Given the description of an element on the screen output the (x, y) to click on. 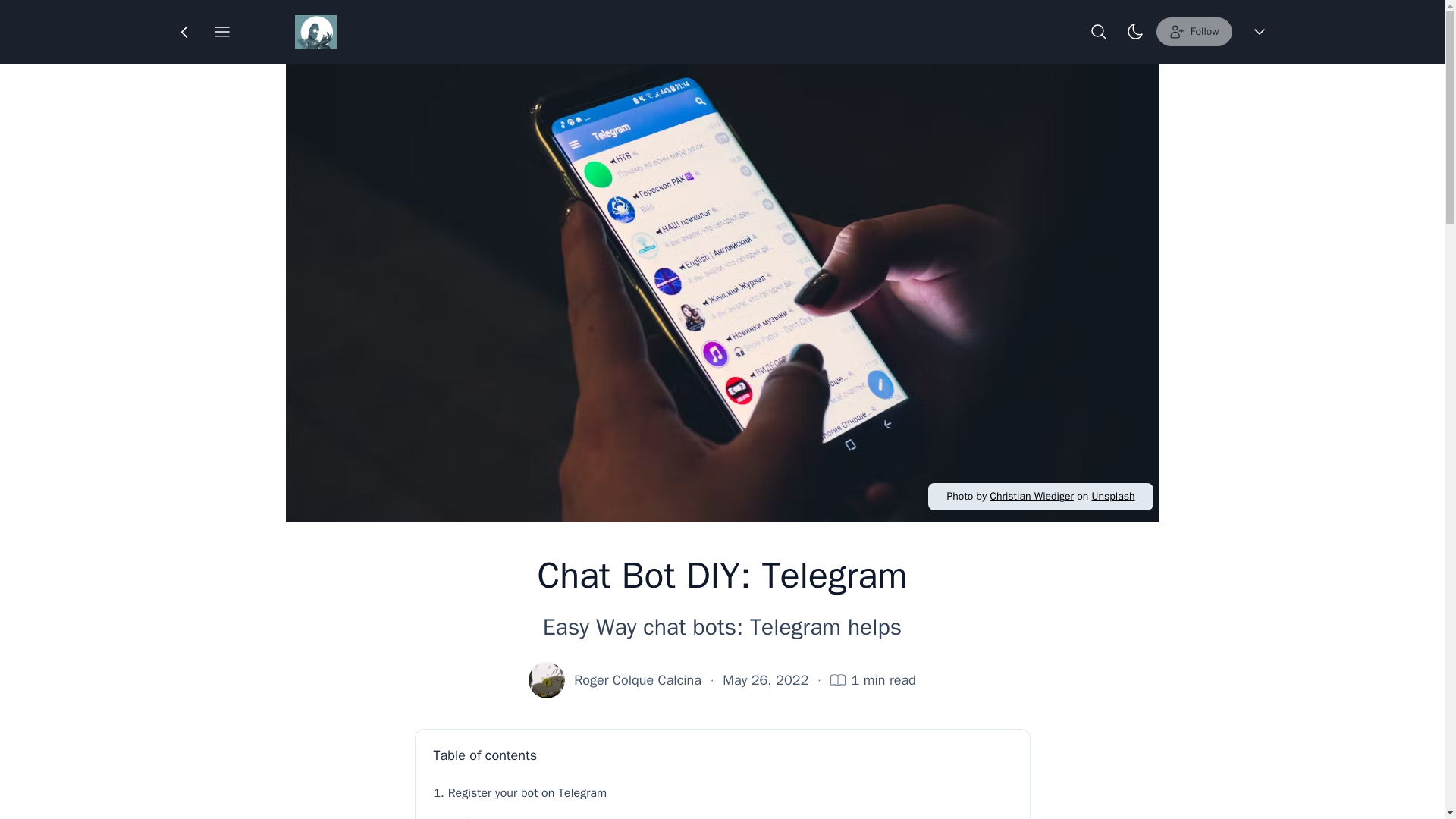
Set a Webhook (728, 813)
May 26, 2022 (765, 680)
Christian Wiediger (1032, 495)
Follow (1193, 31)
Unsplash (1112, 495)
Roger Colque Calcina (637, 680)
1. Register your bot on Telegram (722, 793)
